Given the description of an element on the screen output the (x, y) to click on. 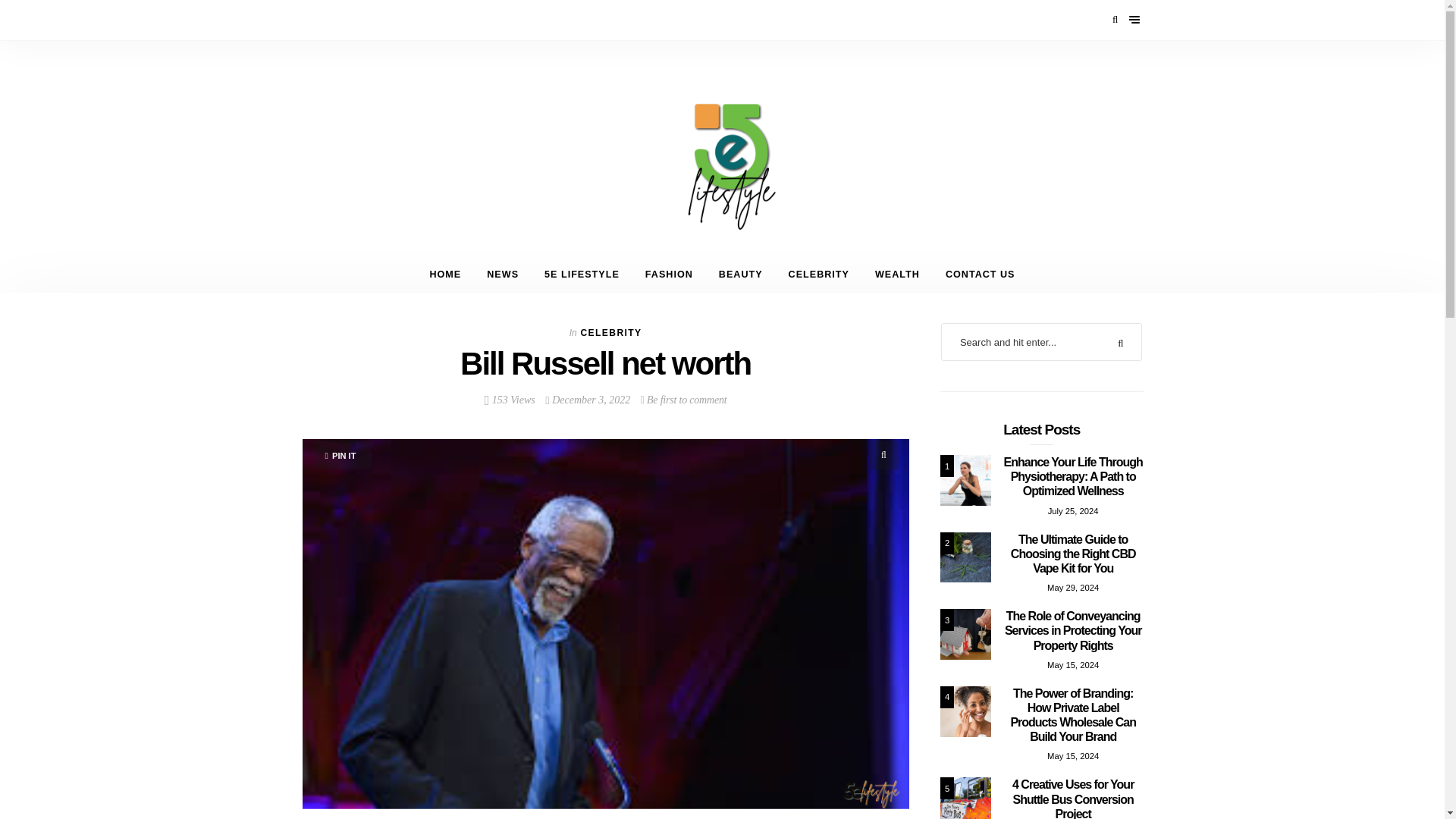
CELEBRITY (818, 274)
CELEBRITY (610, 332)
BEAUTY (741, 274)
5E LIFESTYLE (581, 274)
NEWS (502, 274)
HOME (445, 274)
WEALTH (897, 274)
4 Creative Uses for Your Shuttle Bus Conversion Project (1041, 798)
